Given the description of an element on the screen output the (x, y) to click on. 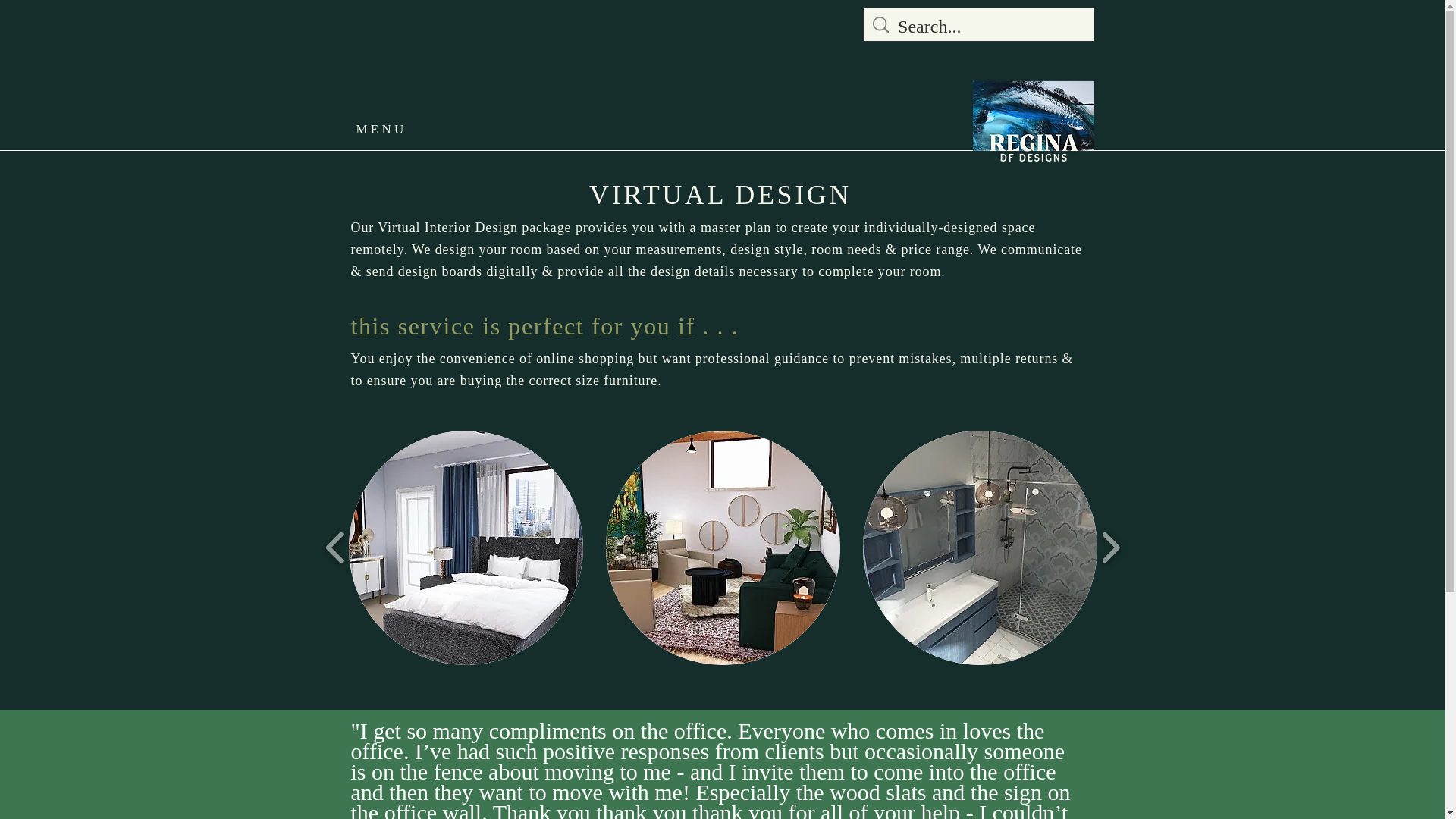
M E N U (405, 128)
